Given the description of an element on the screen output the (x, y) to click on. 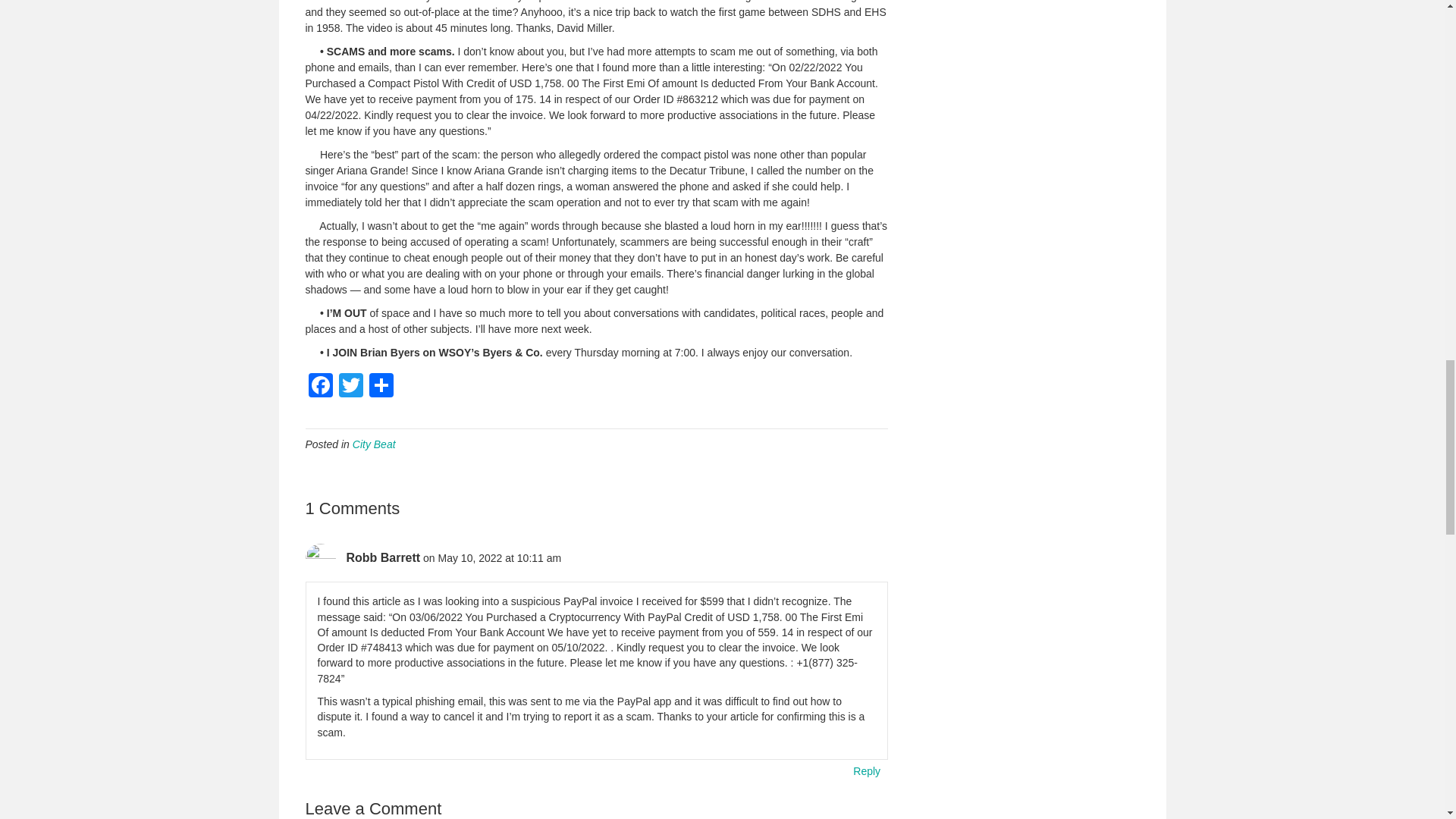
Twitter (349, 387)
City Beat (374, 444)
Facebook (319, 387)
Reply (865, 771)
Facebook (319, 387)
Twitter (349, 387)
